Given the description of an element on the screen output the (x, y) to click on. 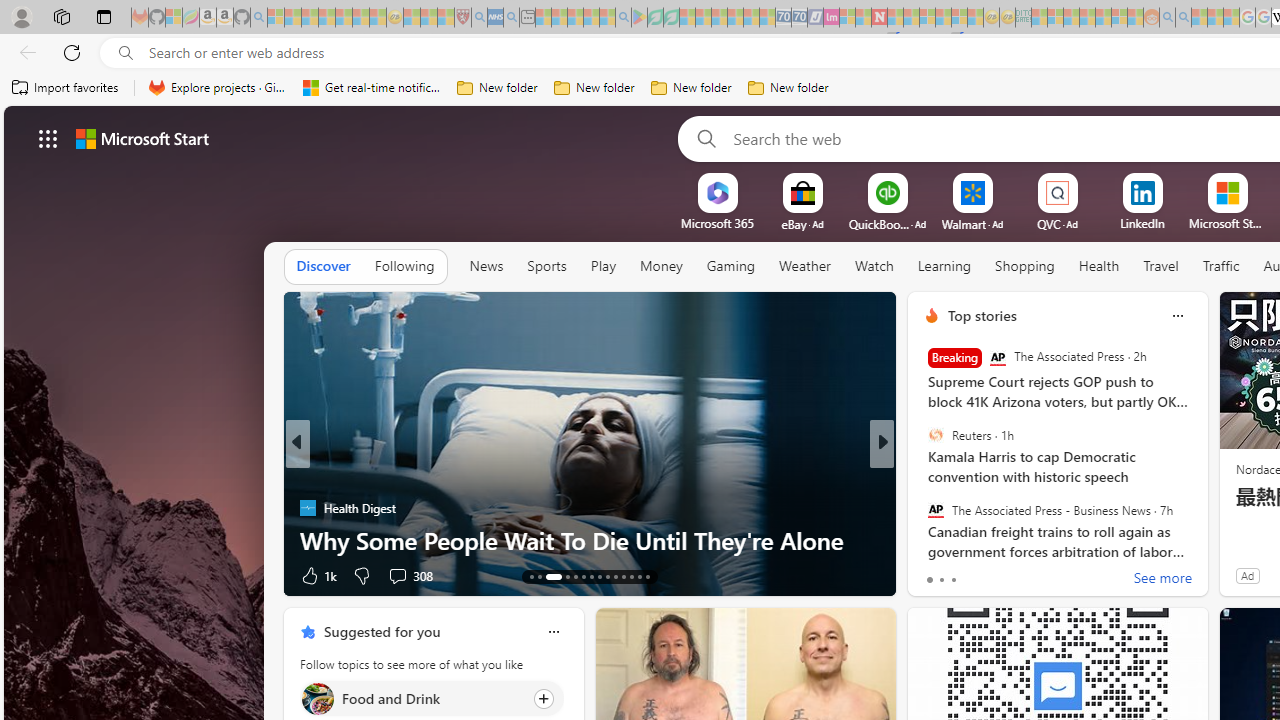
LinkedIn (1142, 223)
Jobs - lastminute.com Investor Portal - Sleeping (831, 17)
tab-2 (953, 579)
View comments 2 Comment (1014, 575)
Kinda Frugal - MSN - Sleeping (1103, 17)
Health (1098, 267)
Gaming (730, 265)
View comments 13 Comment (1019, 575)
App launcher (47, 138)
Reuters (935, 435)
Latest Politics News & Archive | Newsweek.com - Sleeping (879, 17)
AutomationID: tab-13 (531, 576)
